Given the description of an element on the screen output the (x, y) to click on. 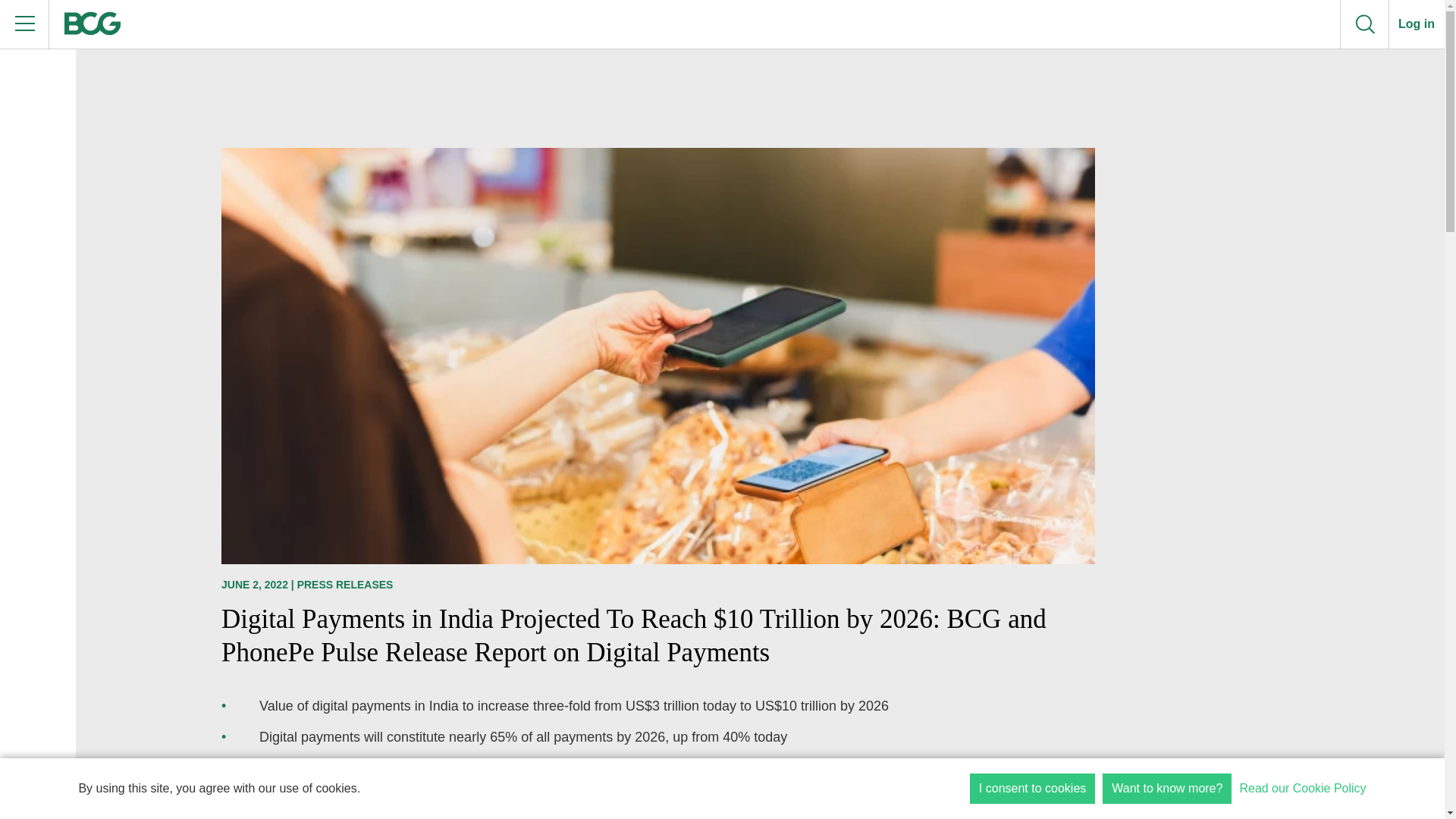
Log in (1416, 24)
I consent to cookies (1031, 788)
